Given the description of an element on the screen output the (x, y) to click on. 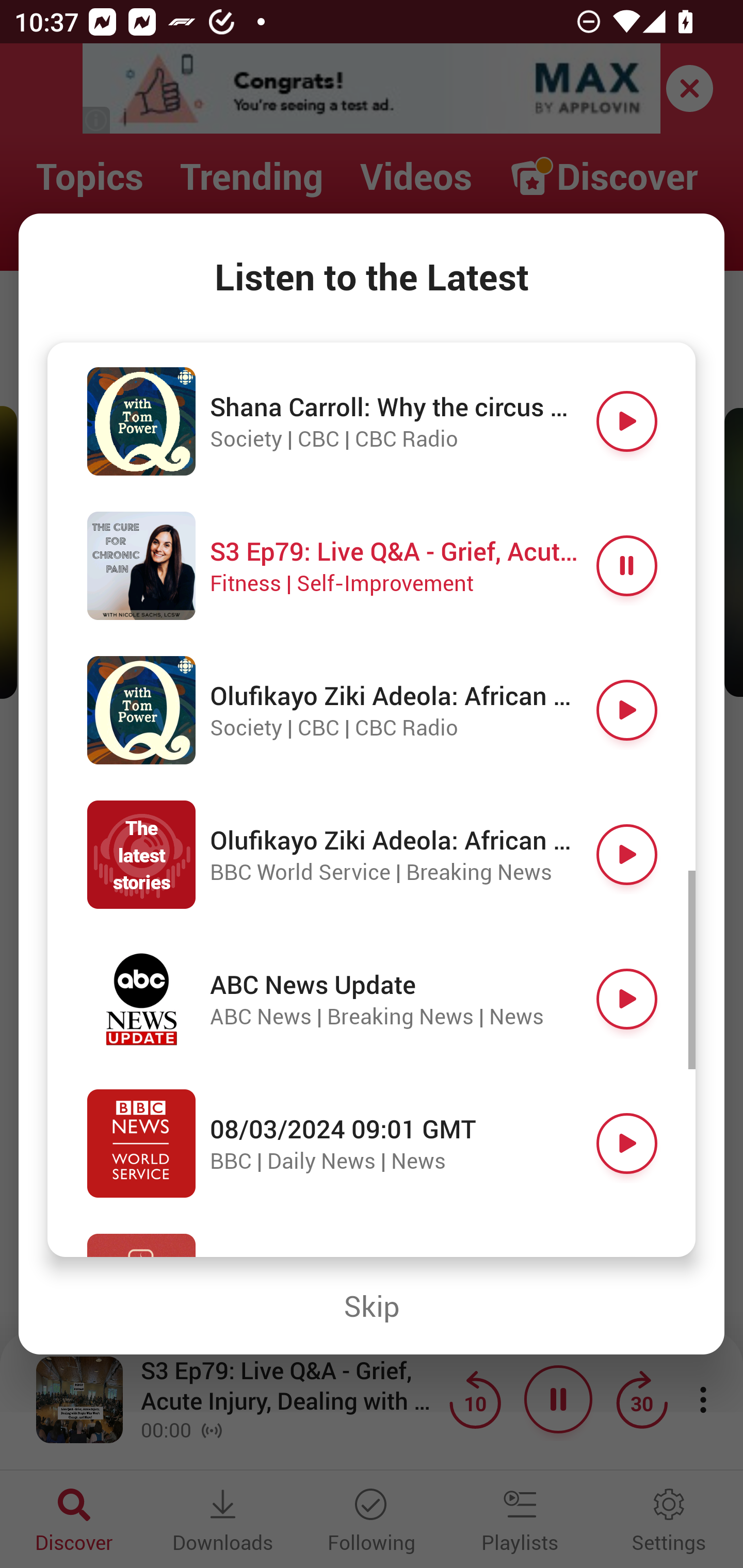
Skip (371, 1305)
